Given the description of an element on the screen output the (x, y) to click on. 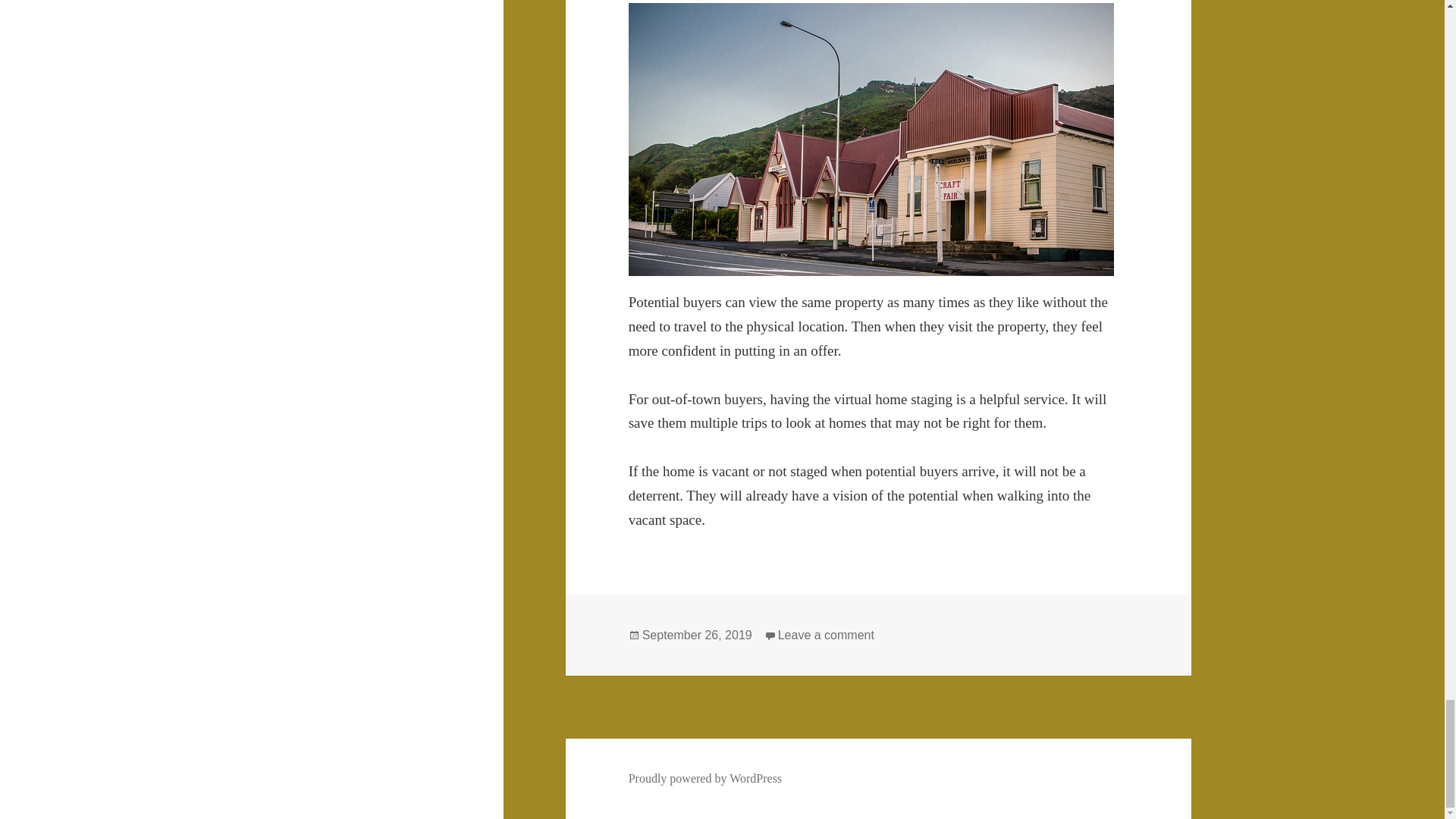
Proudly powered by WordPress (704, 778)
September 26, 2019 (697, 635)
